Given the description of an element on the screen output the (x, y) to click on. 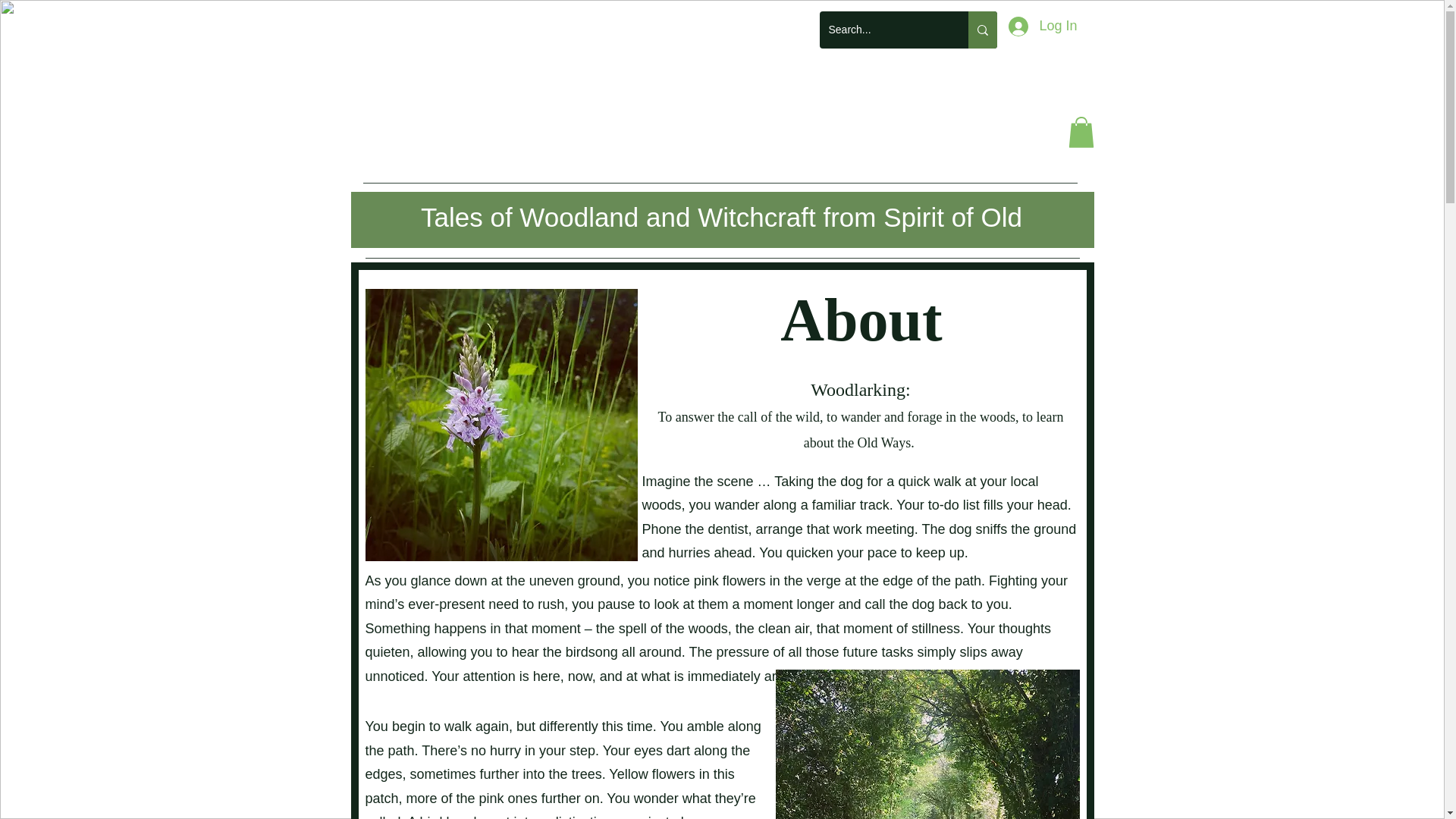
Forum (727, 153)
Shop (618, 153)
Contact (962, 153)
Blog (521, 153)
About (841, 153)
Home (416, 153)
Woodlarking (721, 87)
Log In (1042, 26)
